Given the description of an element on the screen output the (x, y) to click on. 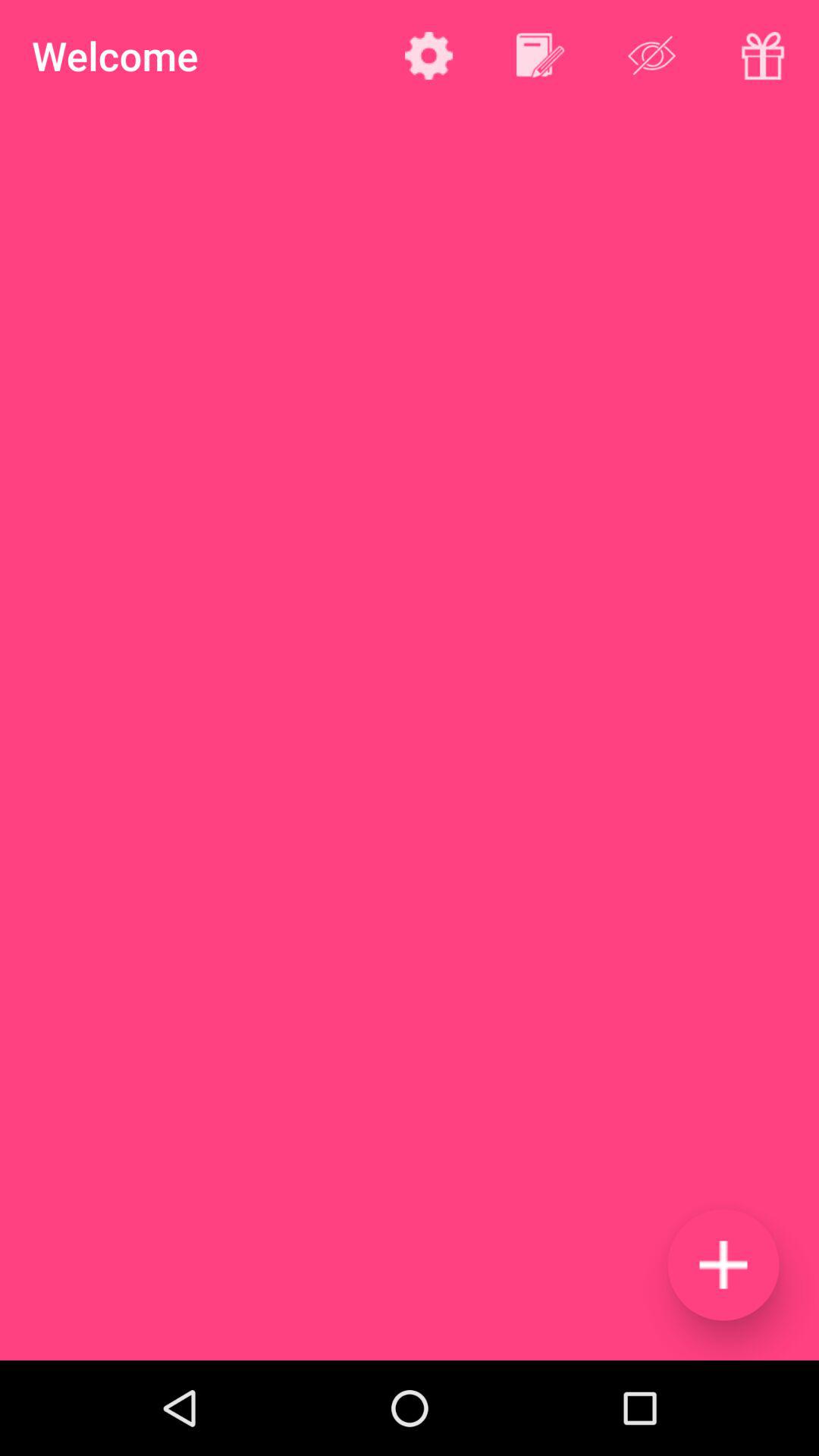
go to settings (428, 55)
